Given the description of an element on the screen output the (x, y) to click on. 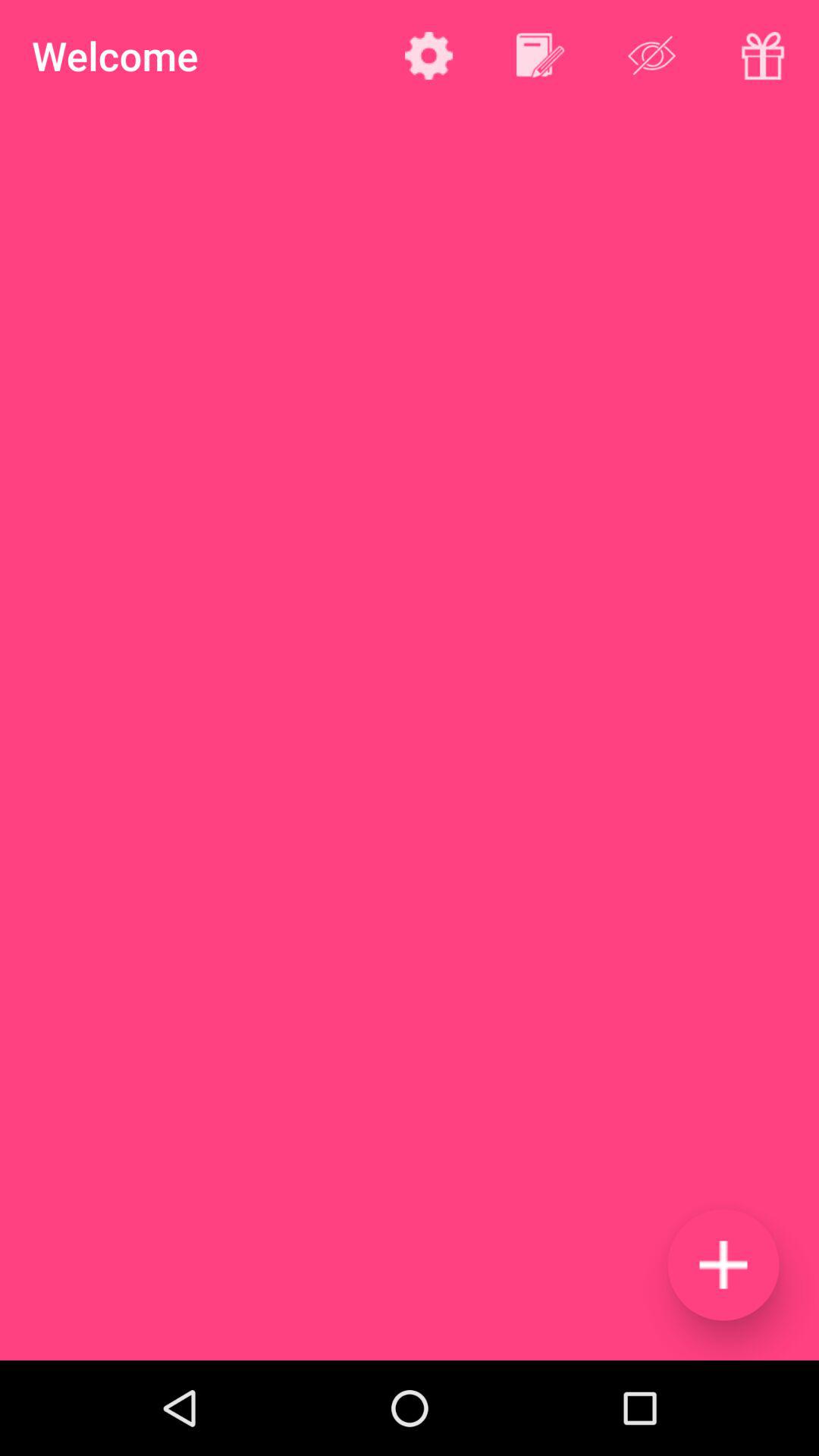
go to settings (428, 55)
